Given the description of an element on the screen output the (x, y) to click on. 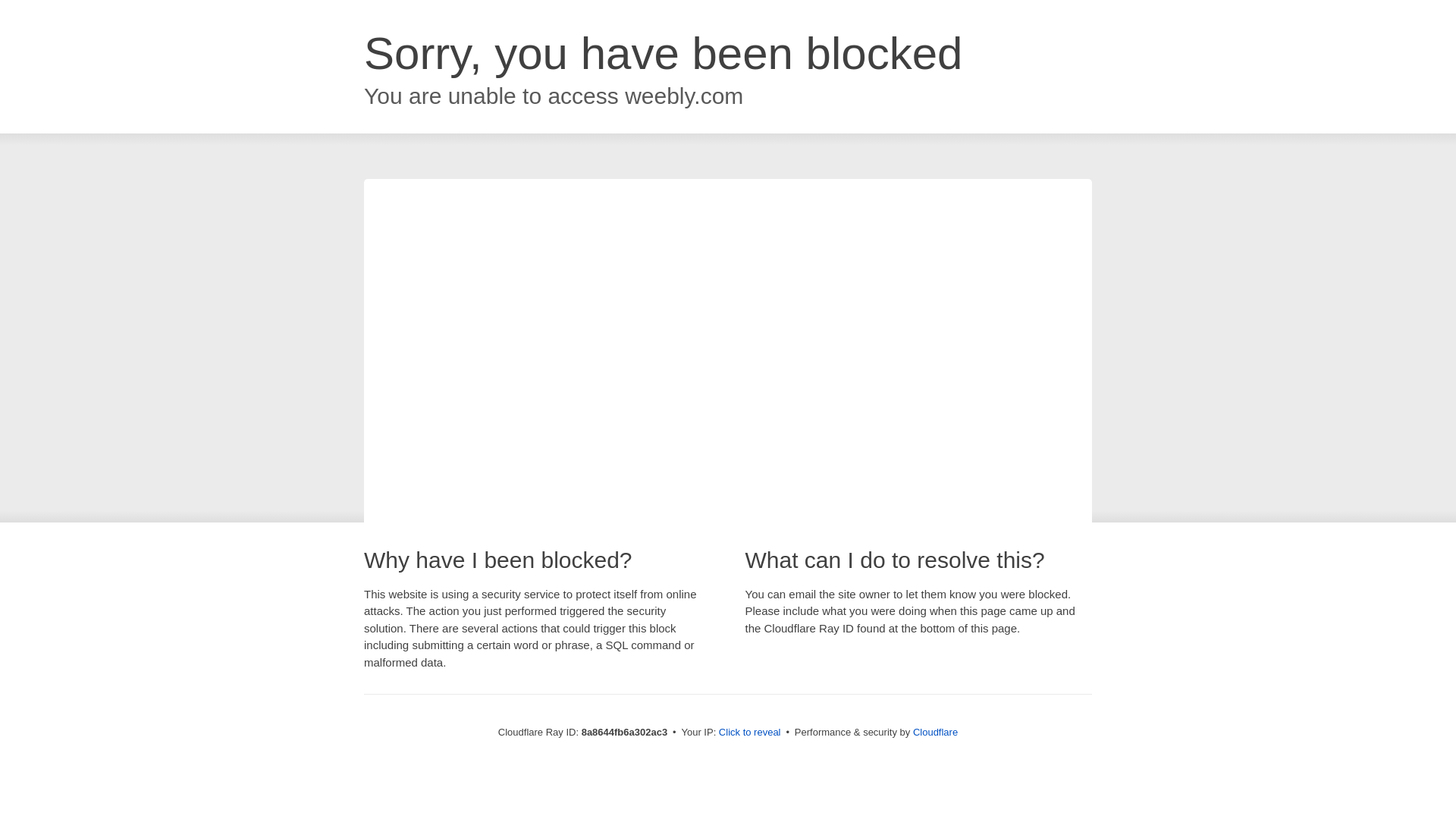
Click to reveal (749, 732)
Cloudflare (935, 731)
